Given the description of an element on the screen output the (x, y) to click on. 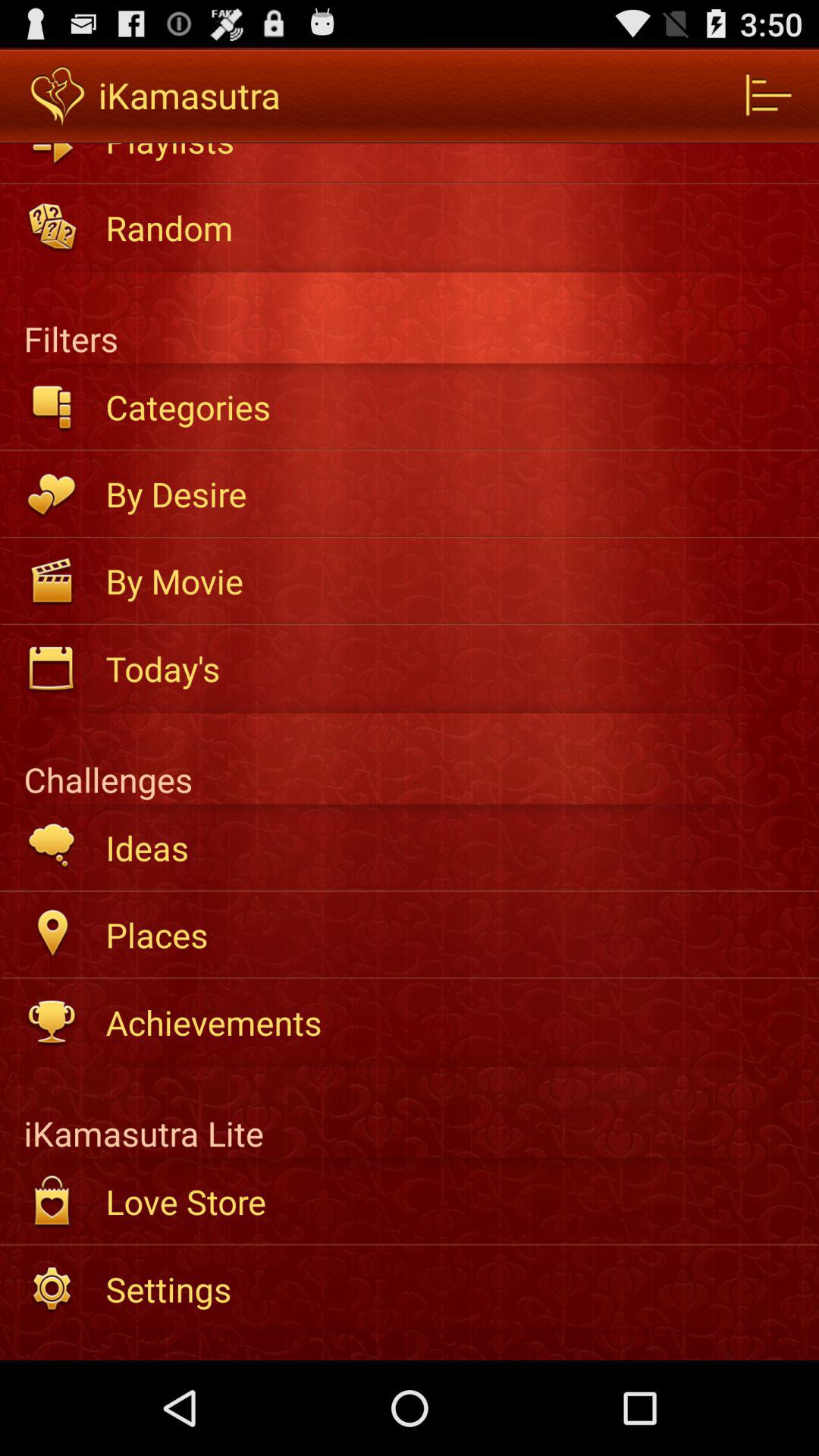
tap the item below categories item (452, 493)
